Given the description of an element on the screen output the (x, y) to click on. 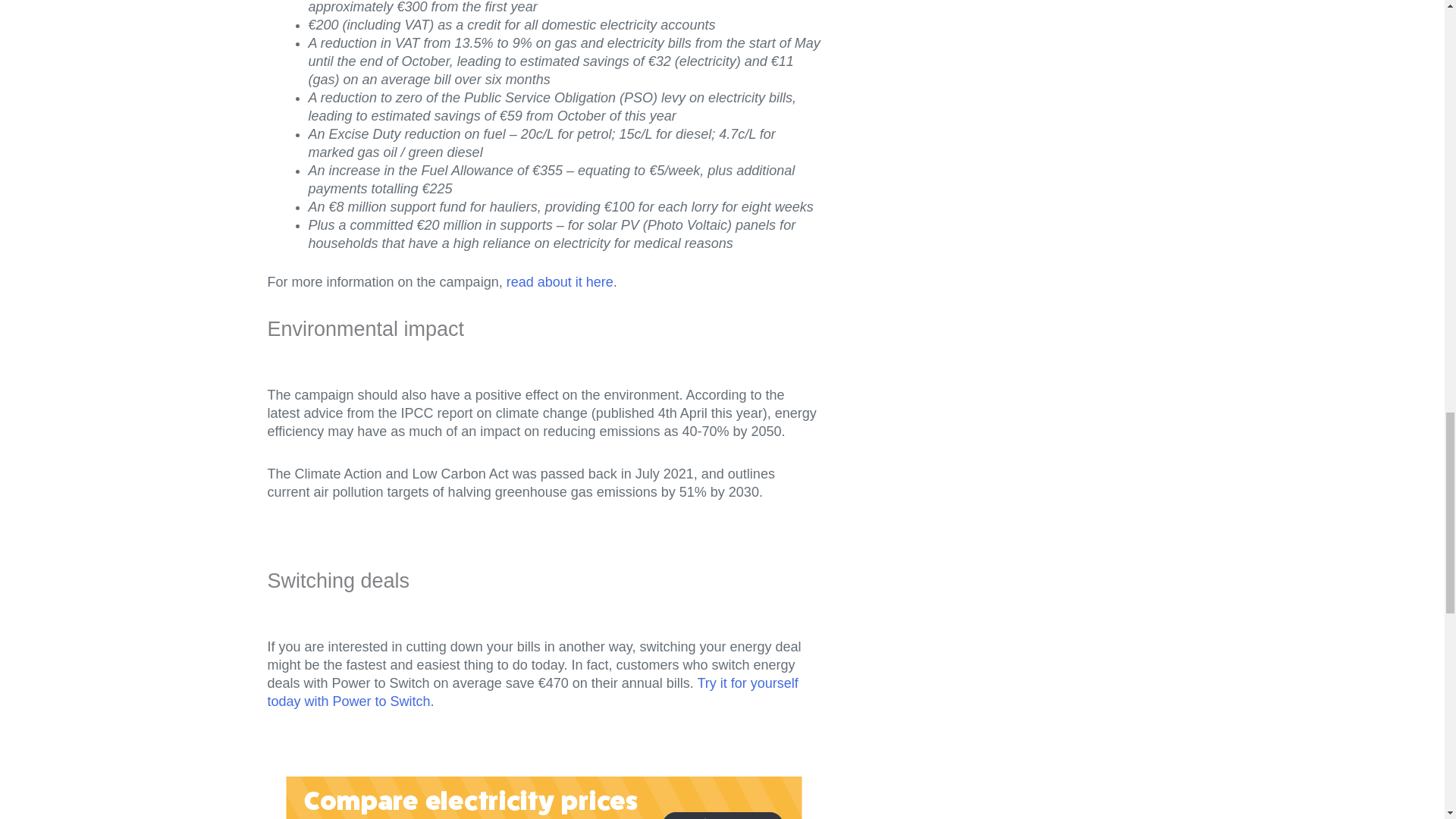
read about it here (559, 281)
Try it for yourself today with Power to Switch (531, 692)
